Given the description of an element on the screen output the (x, y) to click on. 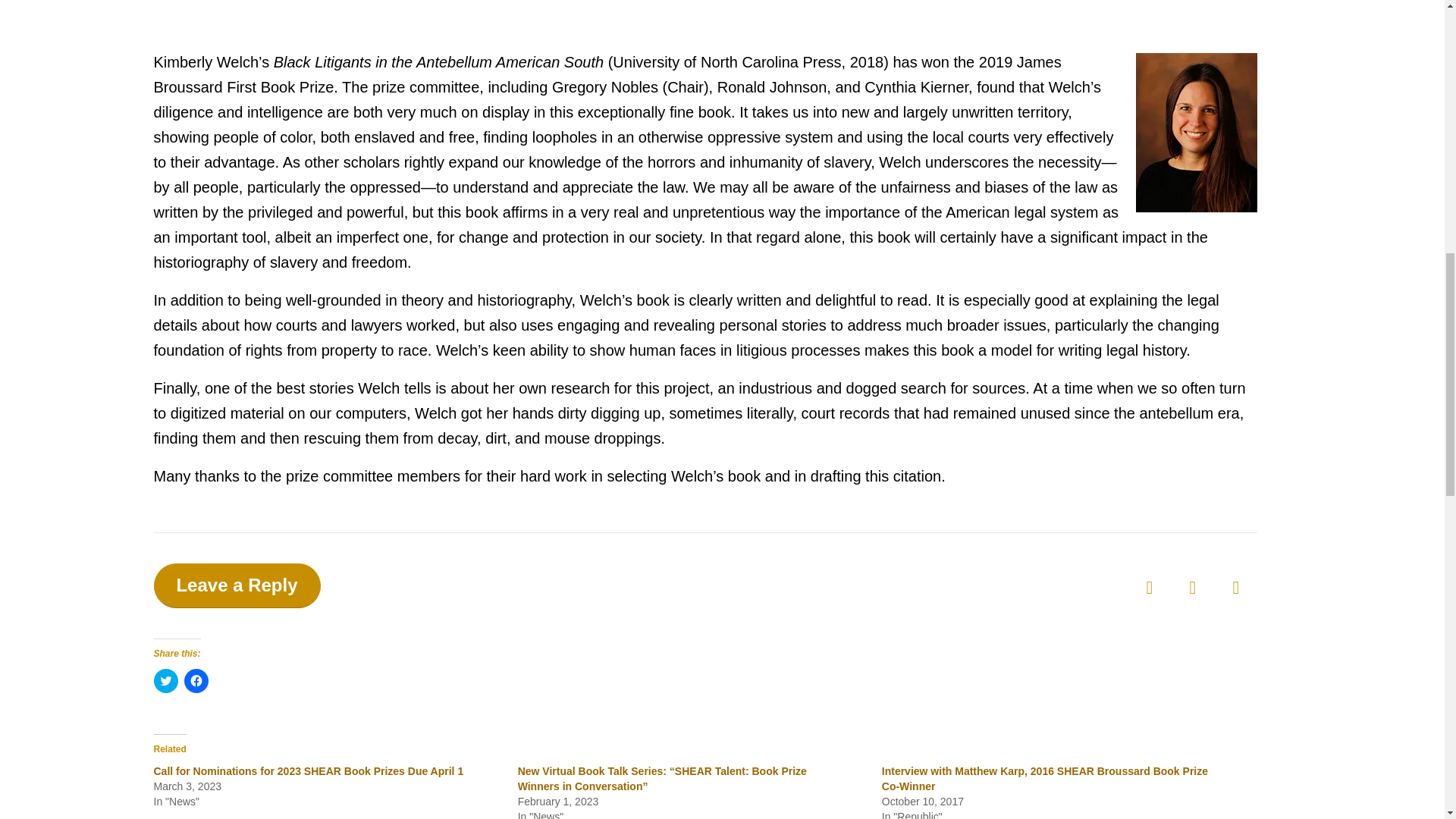
Call for Nominations for 2023 SHEAR Book Prizes Due April 1 (307, 770)
Click to share on Twitter (164, 680)
Click to share on Facebook (195, 680)
